Given the description of an element on the screen output the (x, y) to click on. 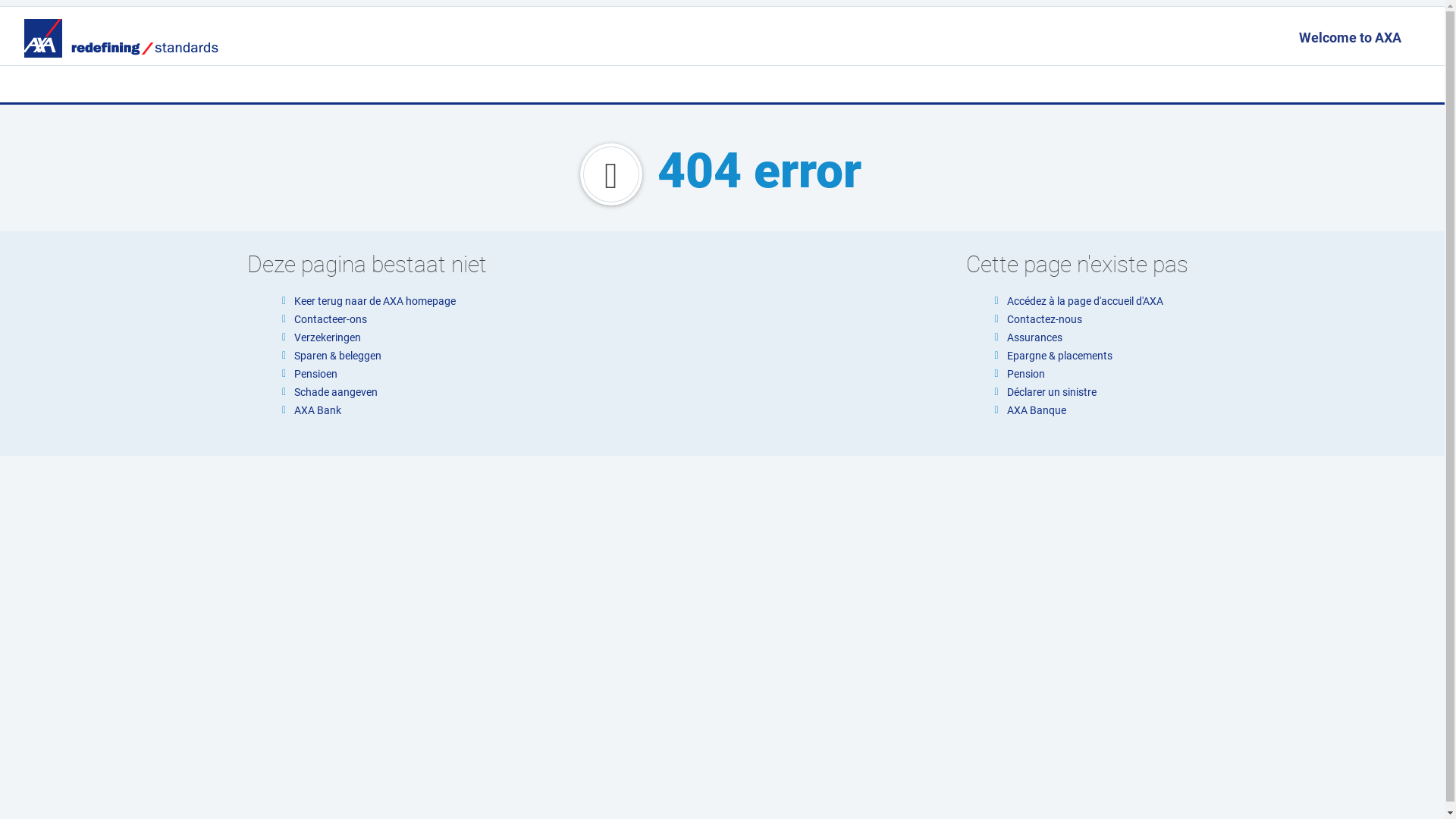
Sparen & beleggen Element type: text (337, 355)
Contacteer-ons Element type: text (330, 319)
Assurances Element type: text (1034, 337)
Contactez-nous Element type: text (1044, 319)
Pension Element type: text (1025, 373)
Epargne & placements Element type: text (1059, 355)
AXA Bank Element type: text (317, 410)
Pensioen Element type: text (315, 373)
Keer terug naar de AXA homepage Element type: text (374, 300)
Verzekeringen Element type: text (327, 337)
AXA Banque Element type: text (1036, 410)
Schade aangeven Element type: text (335, 391)
